Given the description of an element on the screen output the (x, y) to click on. 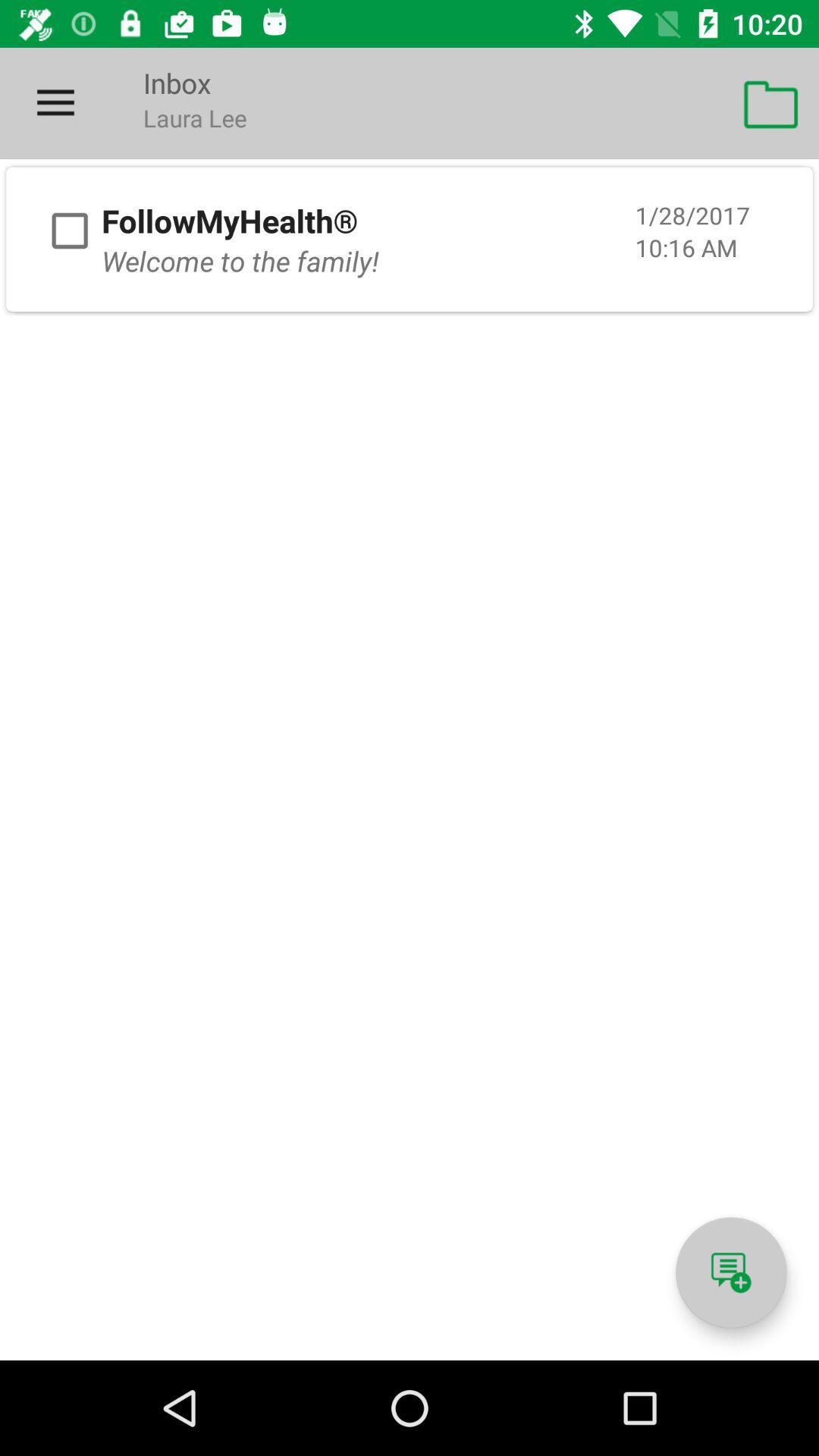
add new message (731, 1272)
